Given the description of an element on the screen output the (x, y) to click on. 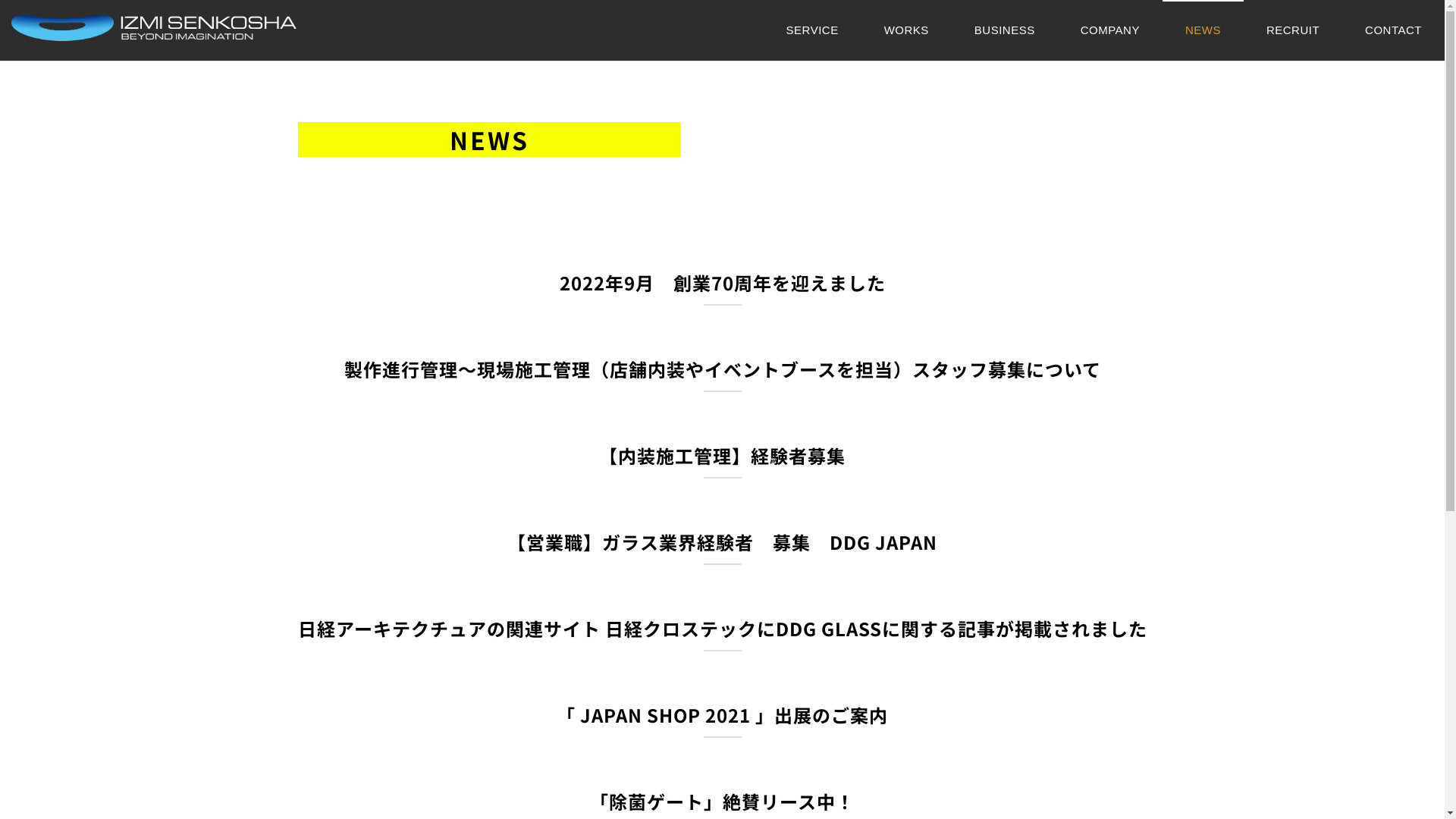
WORKS Element type: text (906, 30)
NEWS Element type: text (1202, 30)
CONTACT Element type: text (1393, 30)
COMPANY Element type: text (1109, 30)
SERVICE Element type: text (812, 30)
BUSINESS Element type: text (1004, 30)
RECRUIT Element type: text (1292, 30)
